Given the description of an element on the screen output the (x, y) to click on. 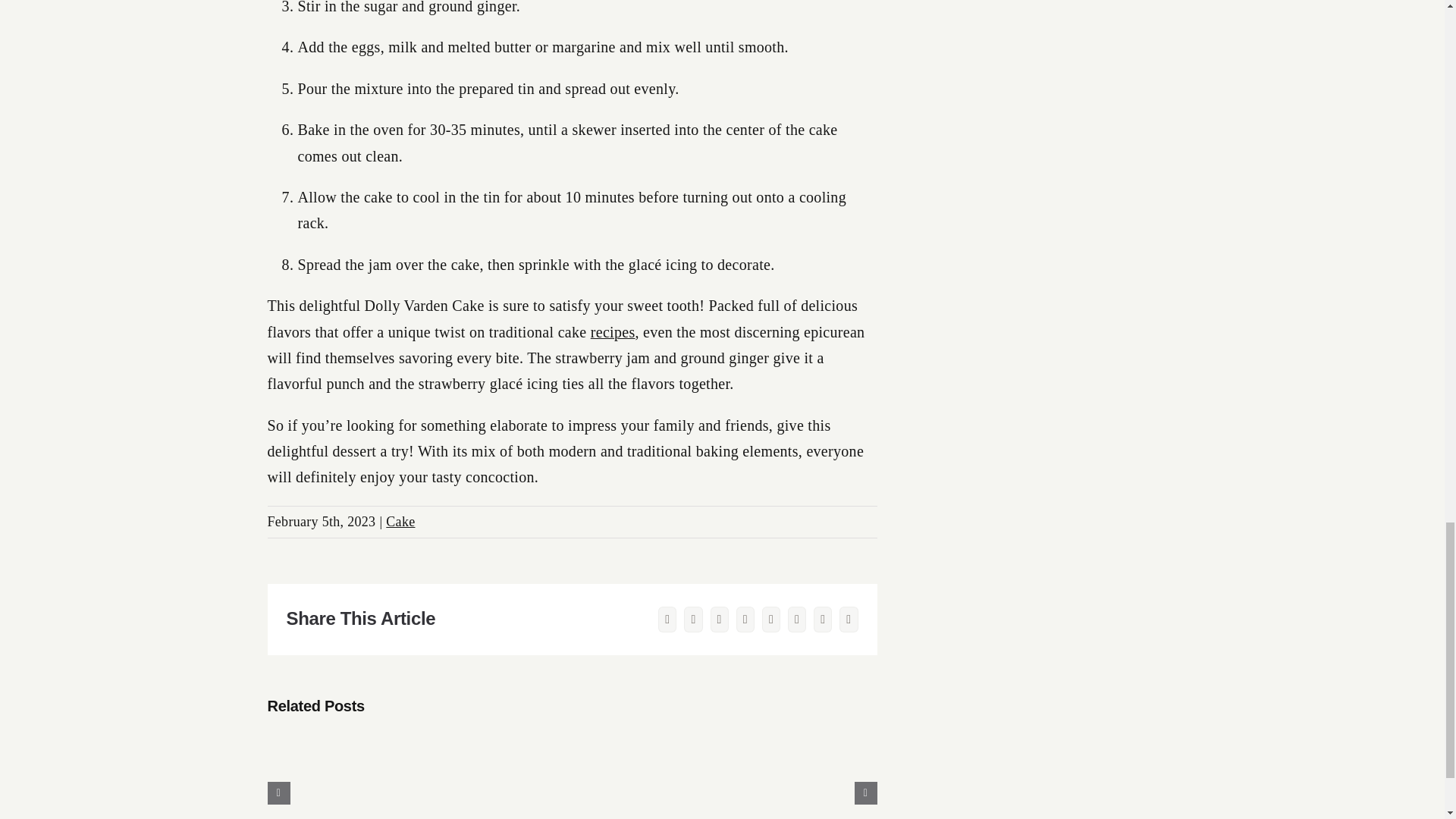
recipes (612, 331)
Cake (399, 521)
